Given the description of an element on the screen output the (x, y) to click on. 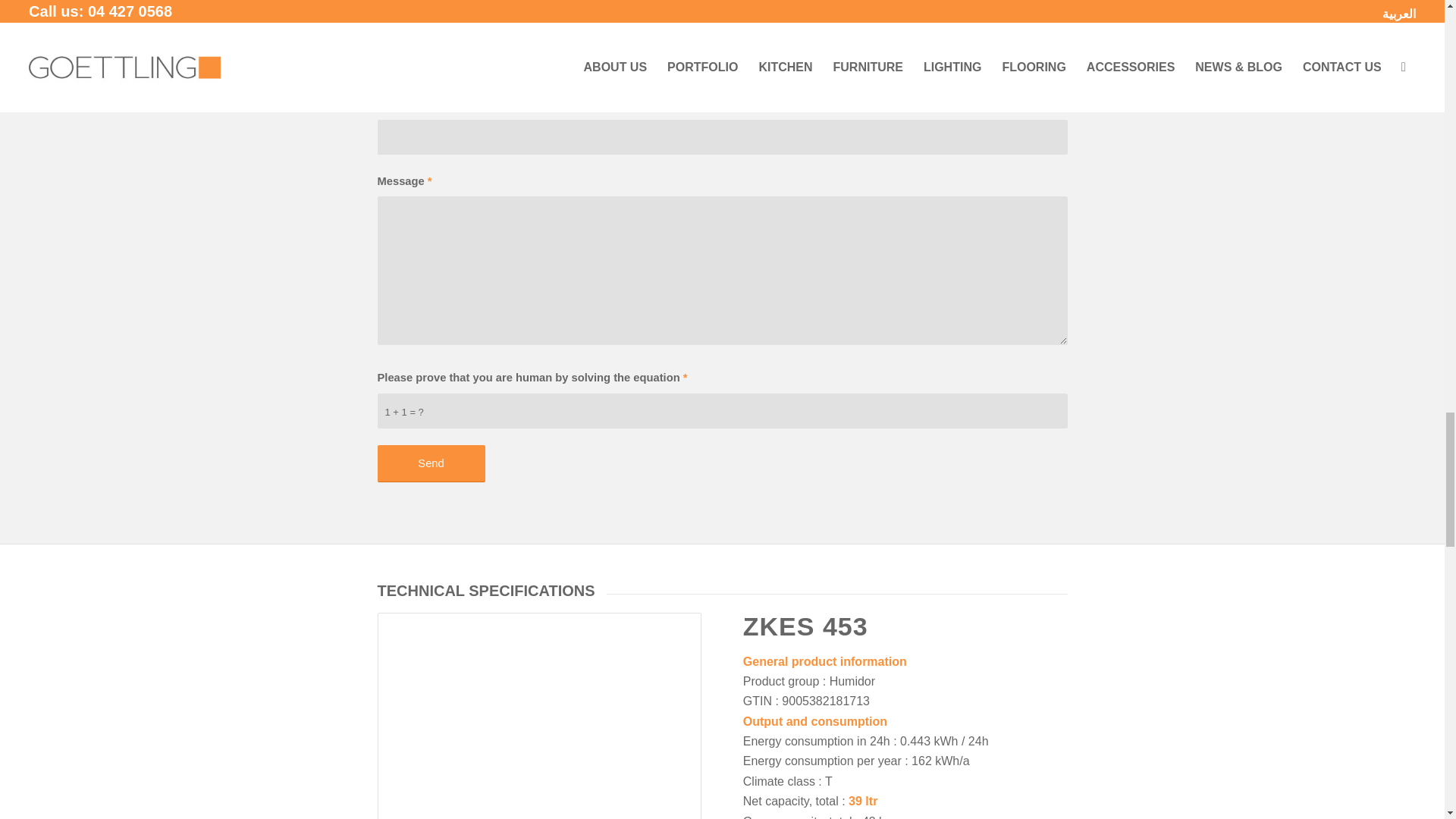
ZKes 453 (539, 715)
Send (430, 463)
ZKes 453 (539, 719)
